Given the description of an element on the screen output the (x, y) to click on. 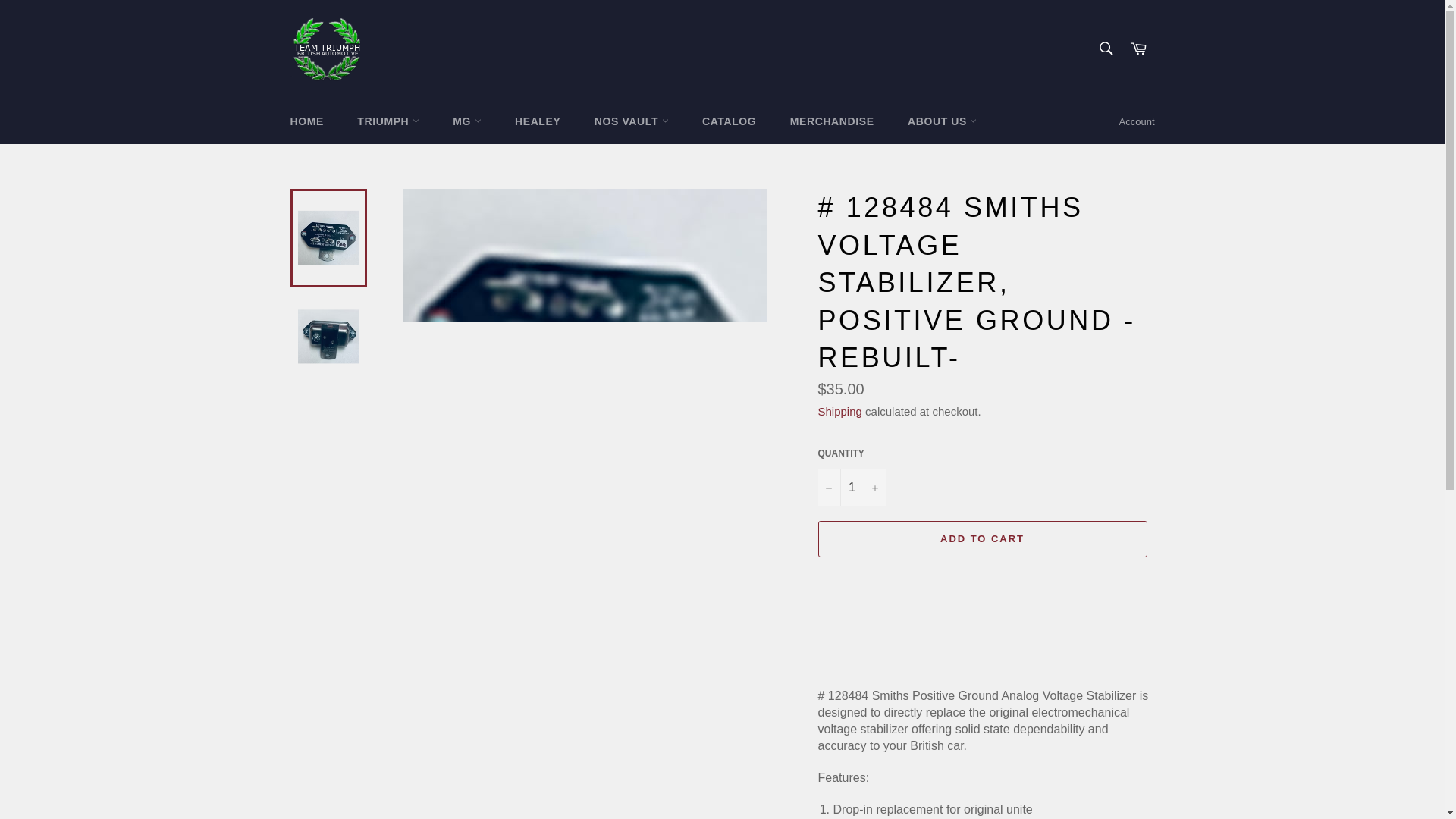
1 (850, 487)
